Given the description of an element on the screen output the (x, y) to click on. 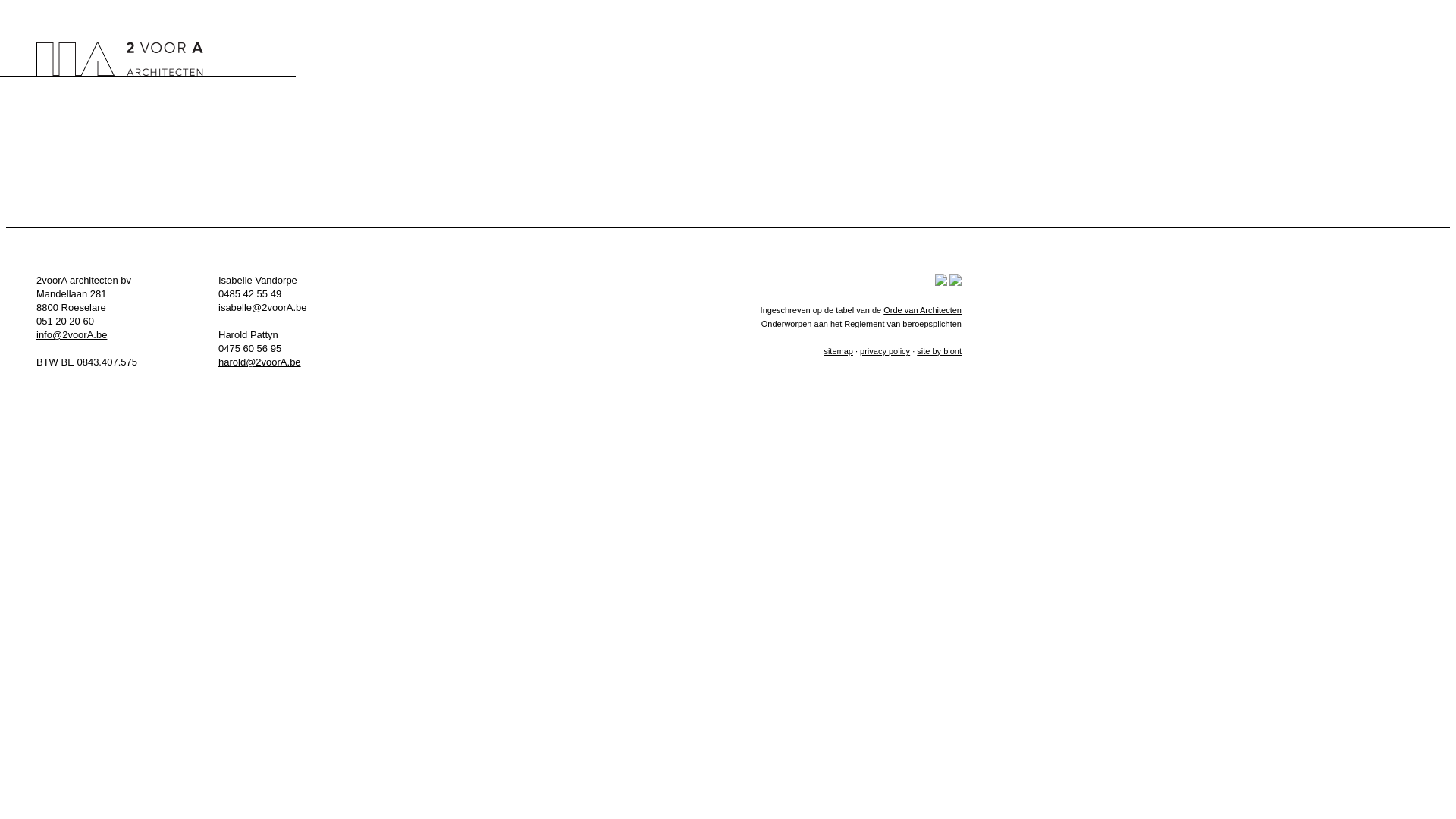
privacy policy Element type: text (884, 350)
Orde van Architecten Element type: text (922, 309)
site by blont Element type: text (938, 350)
info@2voorA.be Element type: text (71, 334)
Reglement van beroepsplichten Element type: text (902, 323)
harold@2voorA.be Element type: text (259, 361)
2voora Element type: hover (119, 58)
sitemap Element type: text (838, 350)
isabelle@2voorA.be Element type: text (262, 307)
